Given the description of an element on the screen output the (x, y) to click on. 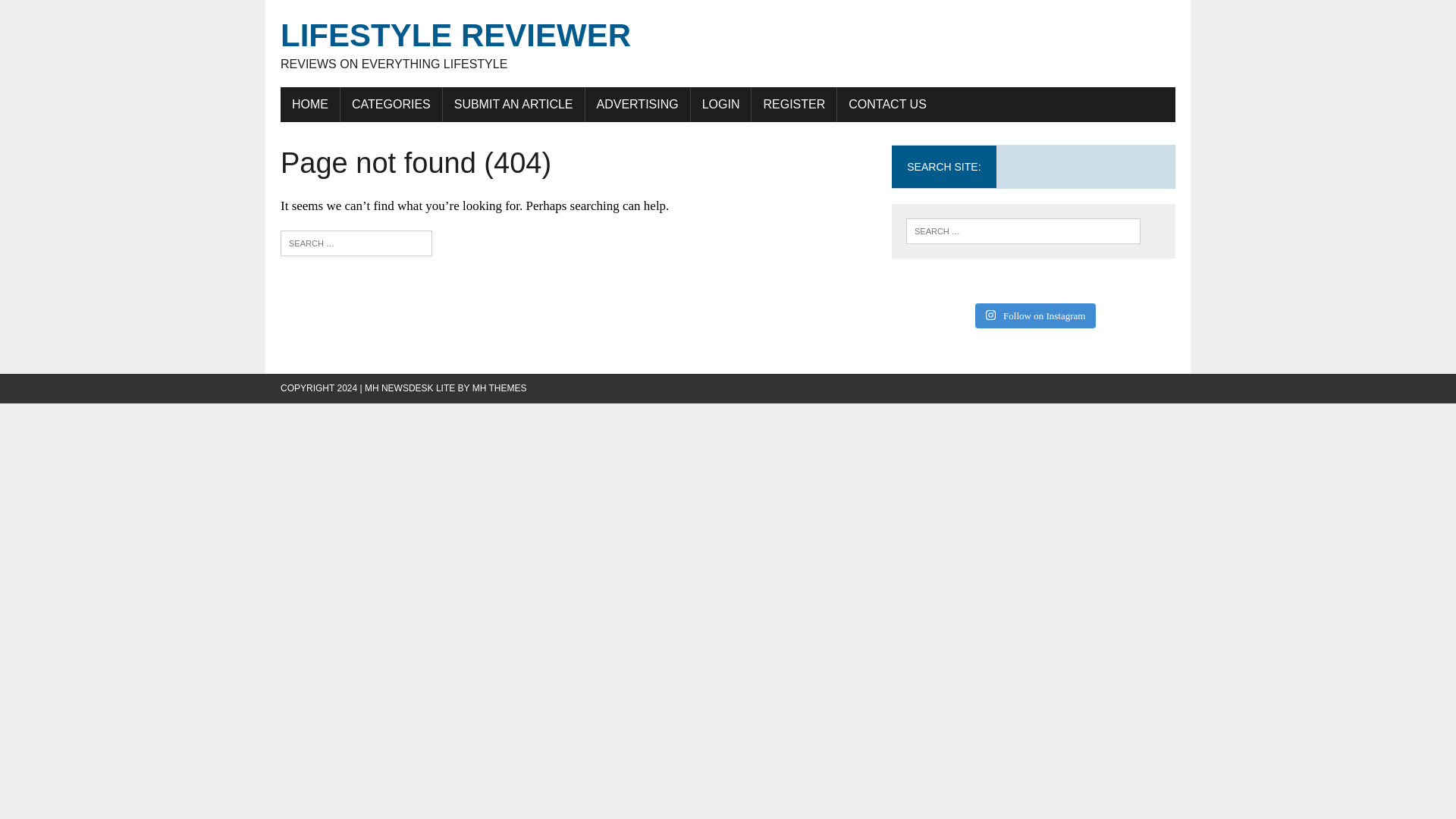
CATEGORIES (391, 104)
Lifestyle Reviewer (727, 43)
HOME (310, 104)
